Given the description of an element on the screen output the (x, y) to click on. 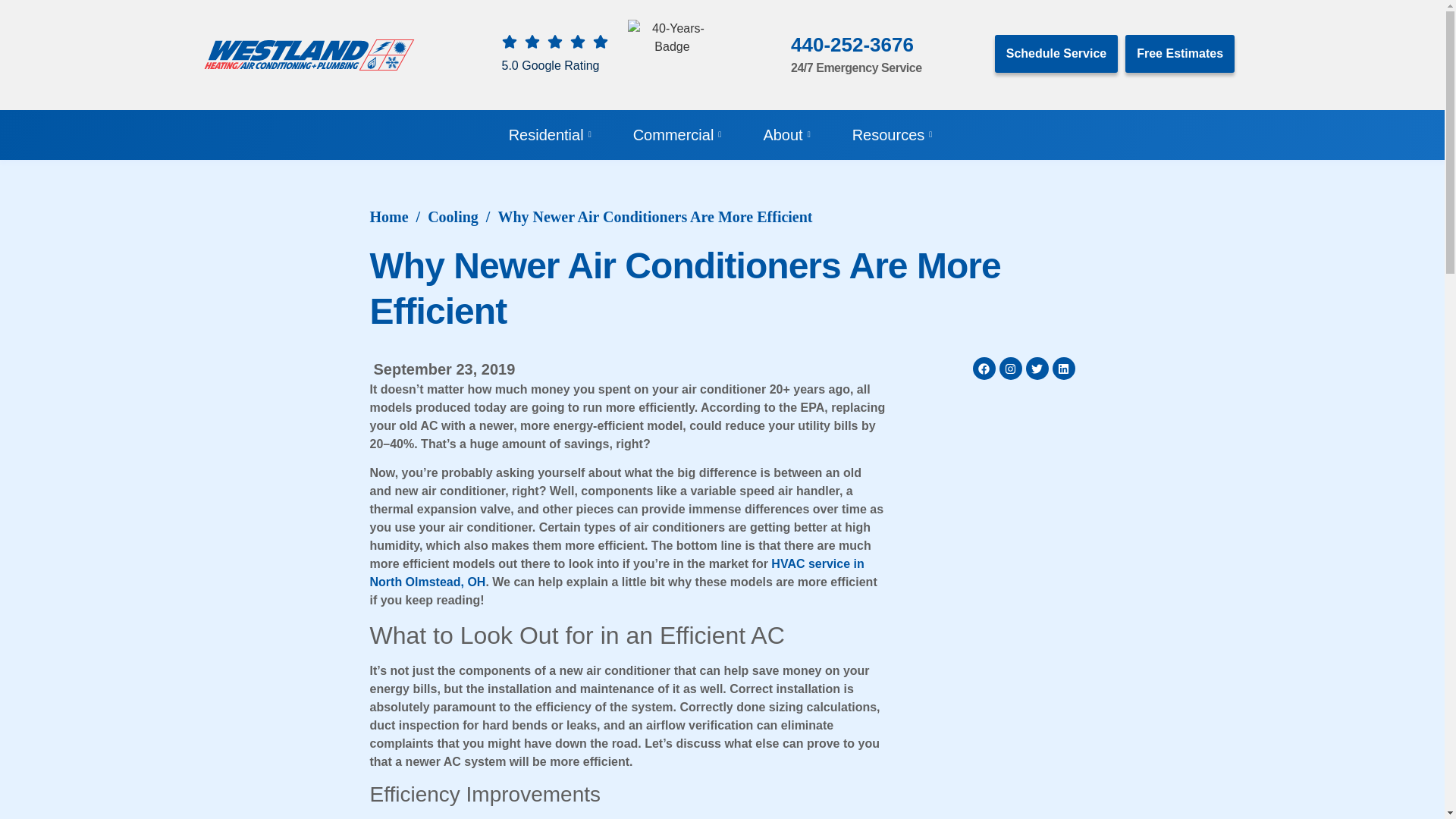
Free Estimates (1179, 53)
Residential (551, 134)
Schedule Service (1056, 53)
440-252-3676 (852, 44)
